Given the description of an element on the screen output the (x, y) to click on. 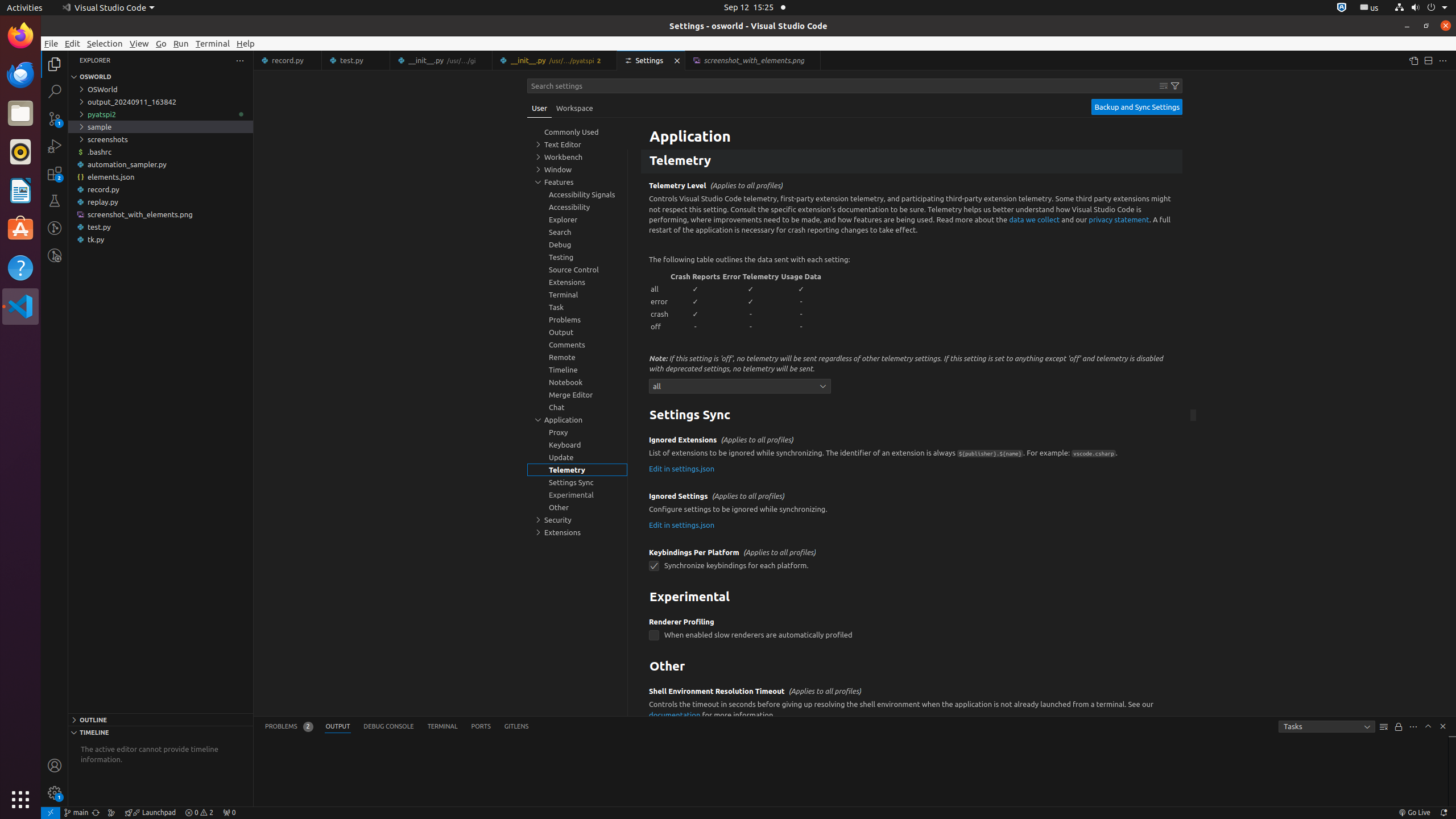
Filter Settings Element type: push-button (1174, 85)
replay.py Element type: tree-item (160, 201)
Accounts Element type: push-button (54, 765)
Window, group Element type: tree-item (577, 169)
all Element type: menu-item (739, 385)
